Given the description of an element on the screen output the (x, y) to click on. 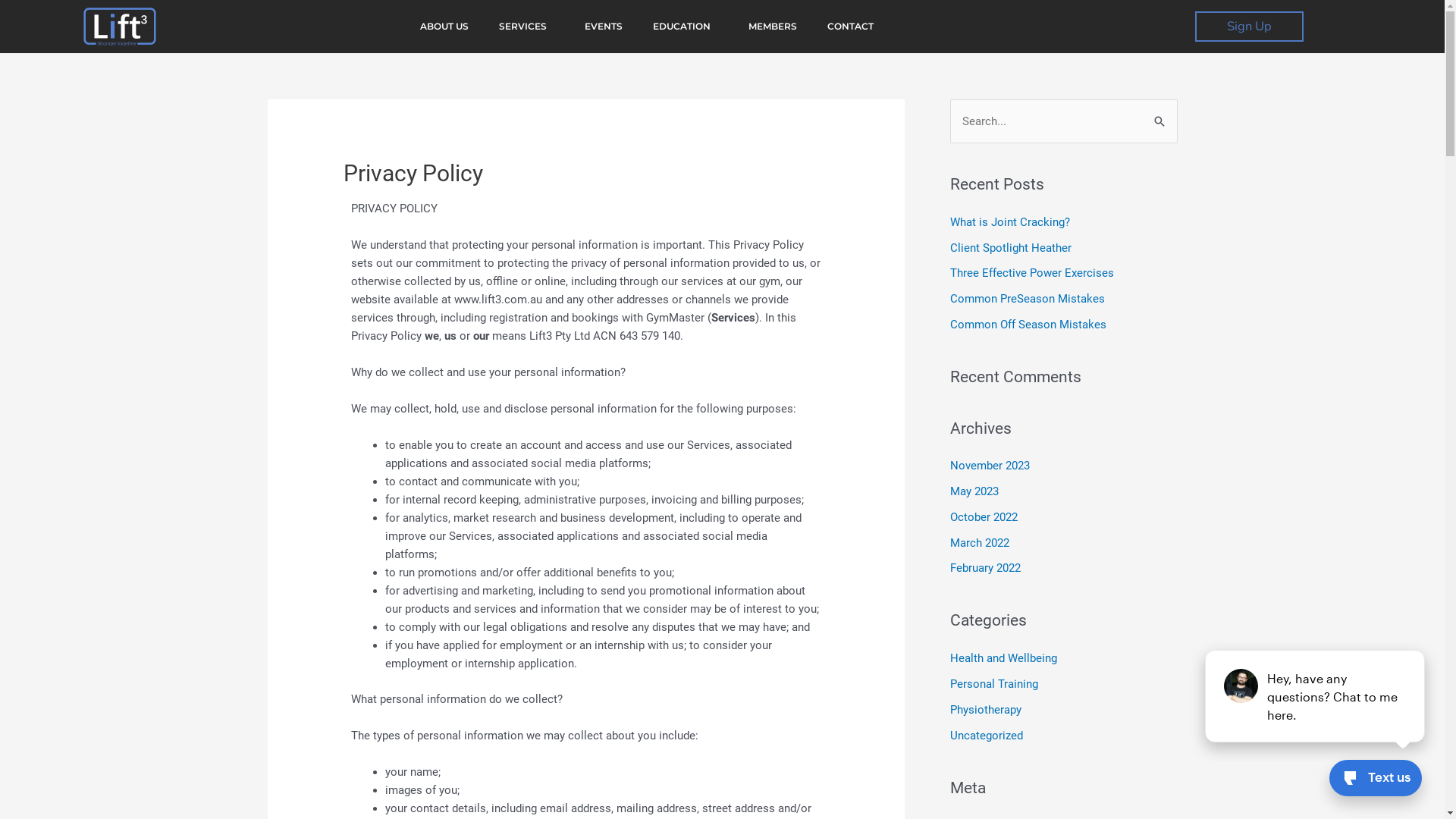
MEMBERS Element type: text (772, 26)
Health and Wellbeing Element type: text (1002, 658)
Three Effective Power Exercises Element type: text (1031, 272)
February 2022 Element type: text (984, 567)
Personal Training Element type: text (993, 683)
SERVICES Element type: text (526, 26)
October 2022 Element type: text (982, 517)
CONTACT Element type: text (850, 26)
EVENTS Element type: text (603, 26)
November 2023 Element type: text (989, 465)
ABOUT US Element type: text (443, 26)
May 2023 Element type: text (973, 491)
Search Element type: text (1160, 114)
cropped-Lift3.png Element type: hover (119, 26)
Common Off Season Mistakes Element type: text (1027, 324)
EDUCATION Element type: text (685, 26)
What is Joint Cracking? Element type: text (1009, 222)
Client Spotlight Heather Element type: text (1009, 247)
Physiotherapy Element type: text (984, 709)
Common PreSeason Mistakes Element type: text (1026, 298)
podium webchat widget prompt Element type: hover (1315, 696)
March 2022 Element type: text (978, 542)
Sign Up Element type: text (1249, 26)
Uncategorized Element type: text (985, 735)
